Given the description of an element on the screen output the (x, y) to click on. 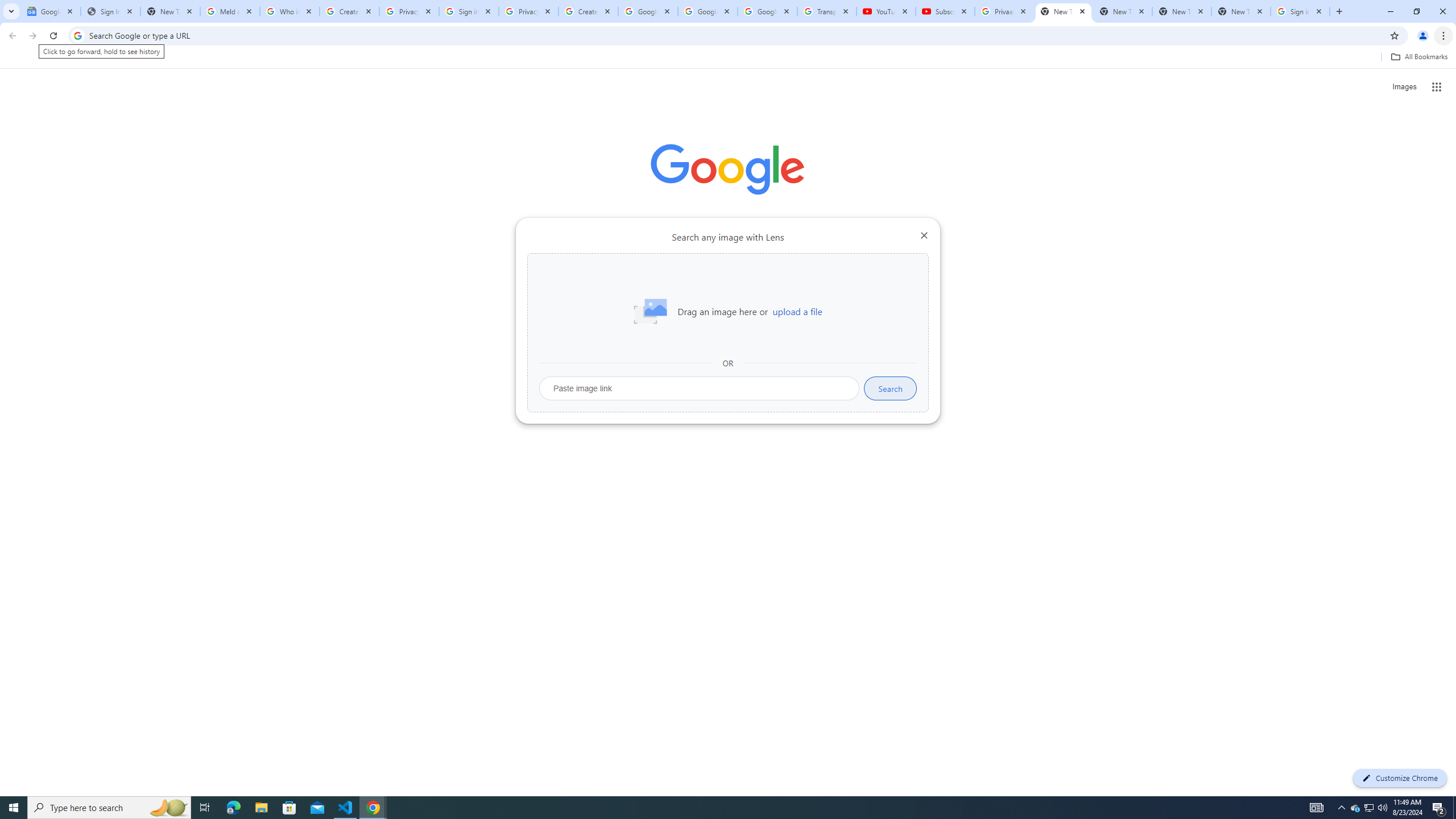
upload a file (796, 311)
Paste image link (699, 388)
More actions for Chrome Web Store shortcut (686, 265)
YouTube (885, 11)
More actions for Sign in shortcut (814, 265)
